Given the description of an element on the screen output the (x, y) to click on. 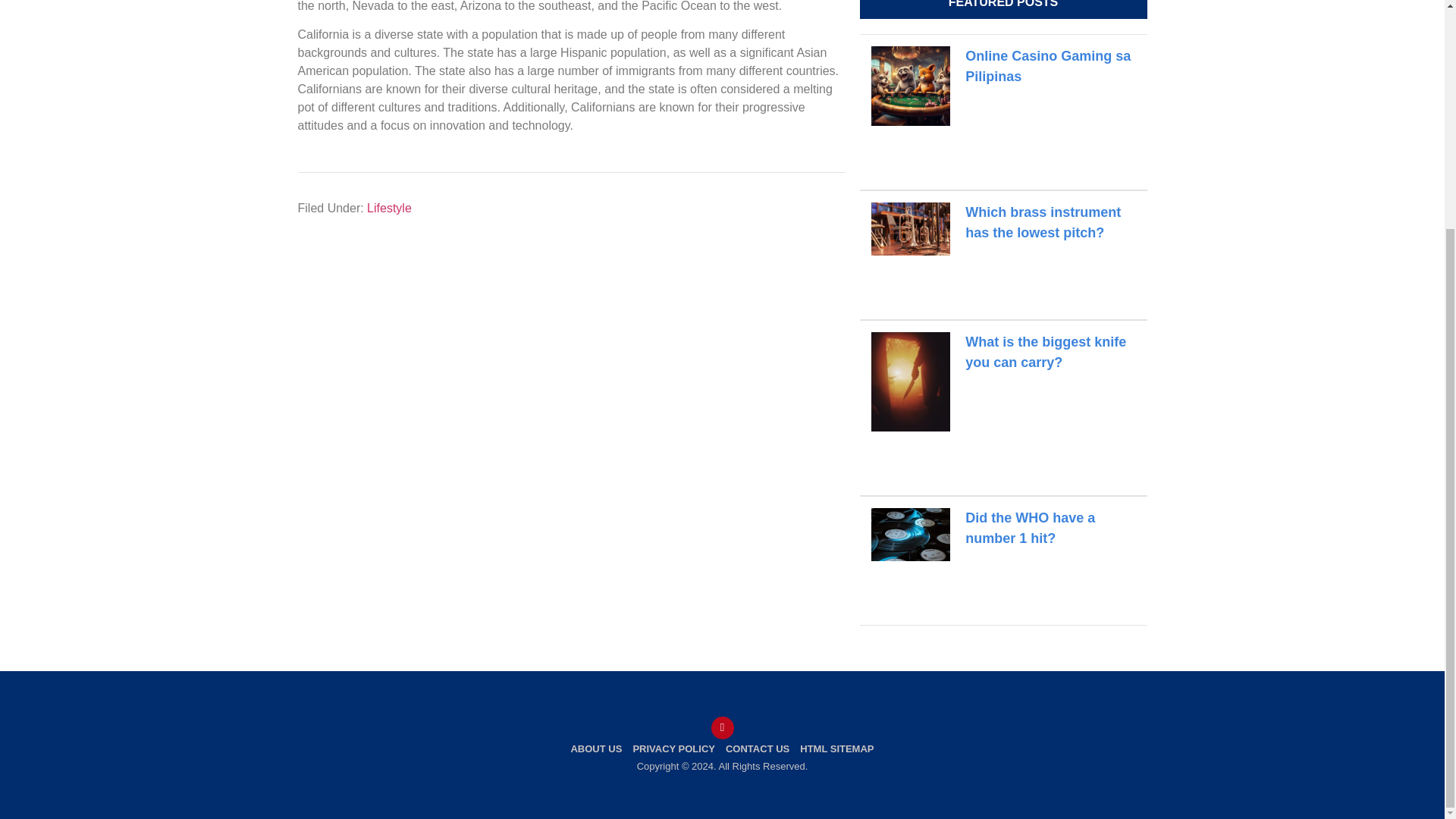
ABOUT US (595, 749)
What is the biggest knife you can carry? (1045, 352)
Lifestyle (389, 207)
CONTACT US (757, 749)
HTML SITEMAP (836, 749)
Which brass instrument has the lowest pitch? (1043, 222)
Did the WHO have a number 1 hit? (1029, 528)
Online Casino Gaming sa Pilipinas (1048, 66)
PRIVACY POLICY (673, 749)
